Given the description of an element on the screen output the (x, y) to click on. 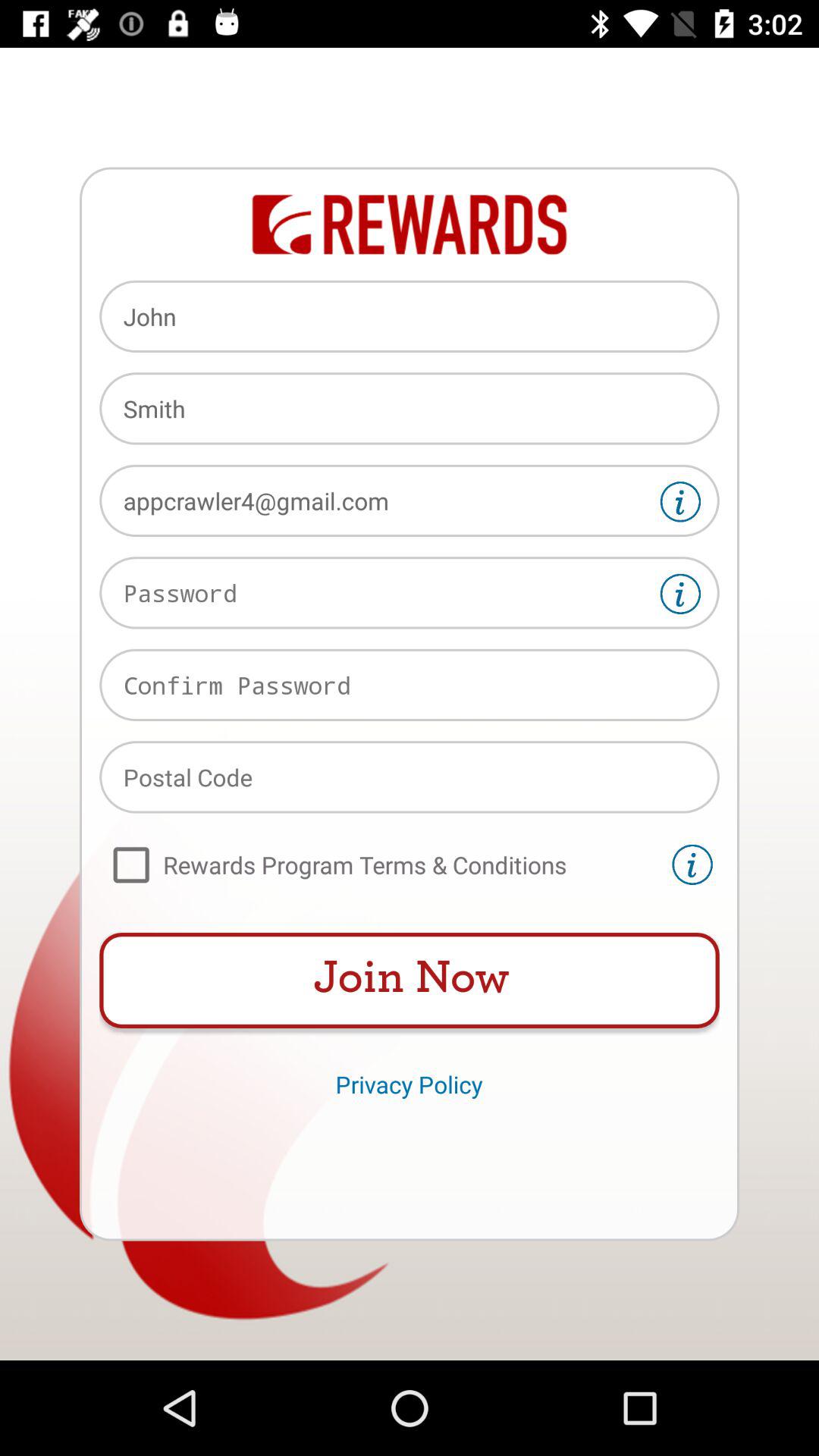
text box (409, 592)
